Given the description of an element on the screen output the (x, y) to click on. 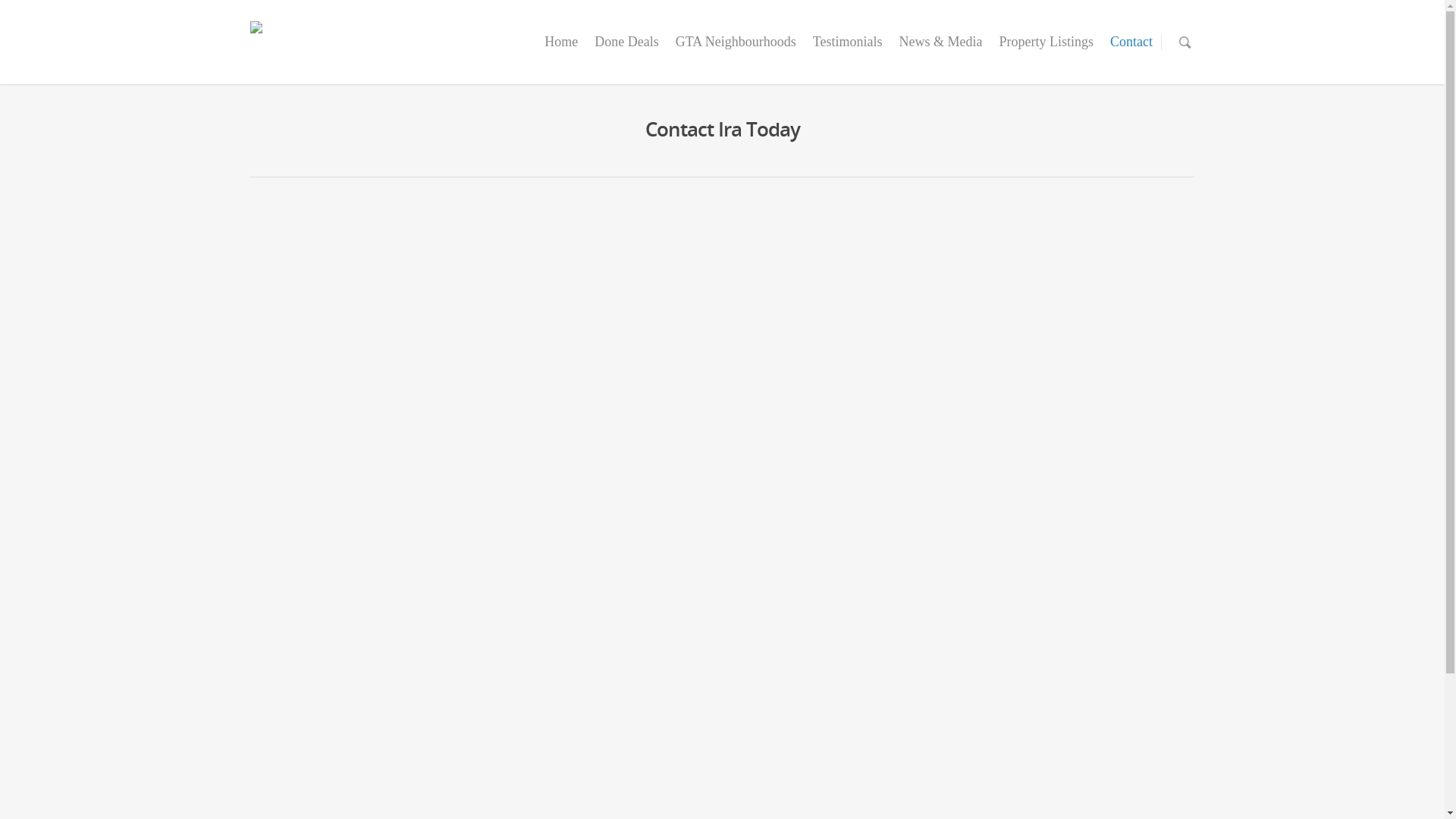
News & Media Element type: text (940, 52)
Testimonials Element type: text (847, 52)
Property Listings Element type: text (1046, 52)
Done Deals Element type: text (625, 52)
Contact Element type: text (1131, 52)
Home Element type: text (560, 52)
GTA Neighbourhoods Element type: text (735, 52)
